Given the description of an element on the screen output the (x, y) to click on. 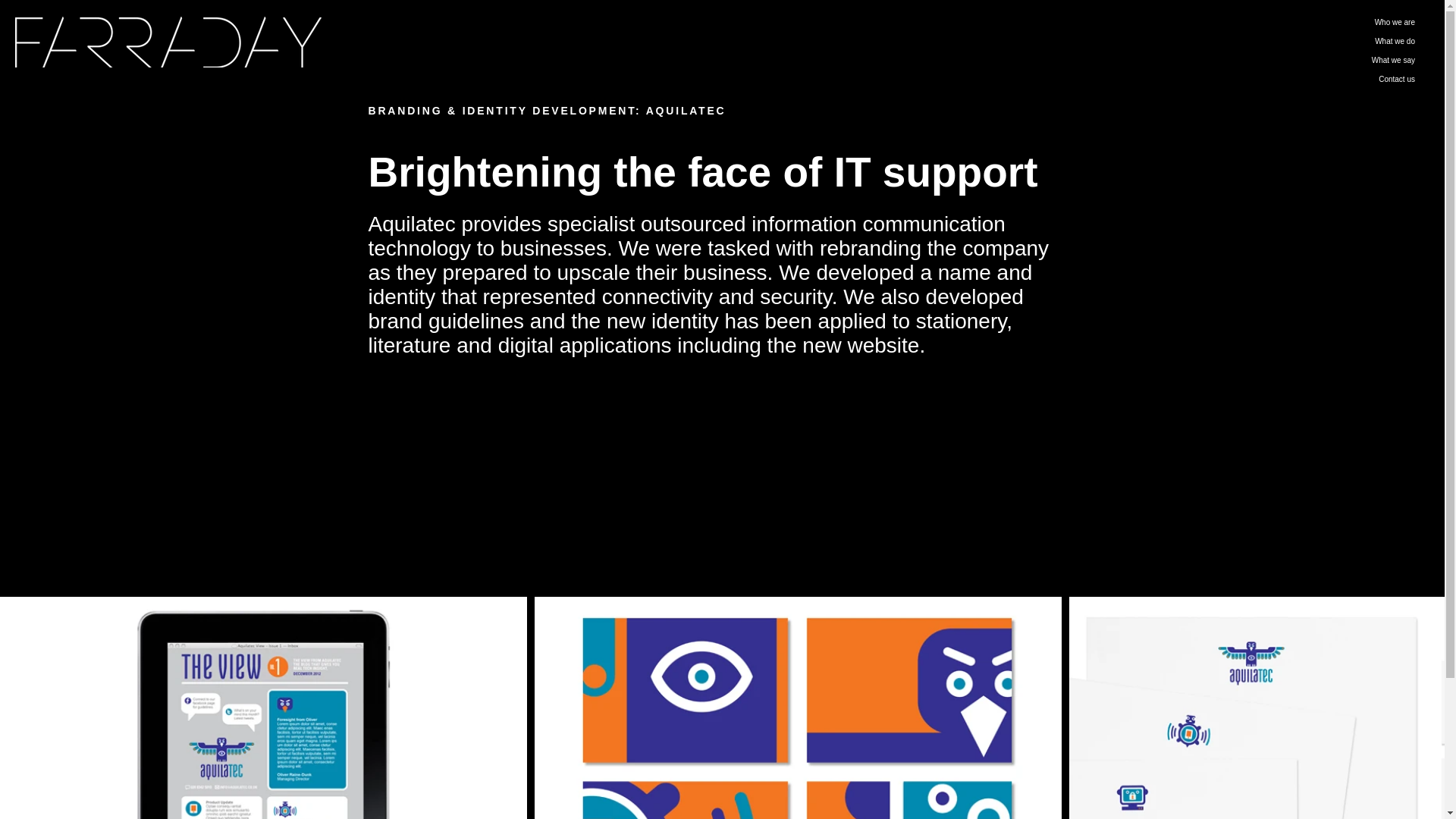
Who we are (1329, 22)
Contact us (1329, 78)
What we say (1329, 59)
What we do (1329, 40)
